Given the description of an element on the screen output the (x, y) to click on. 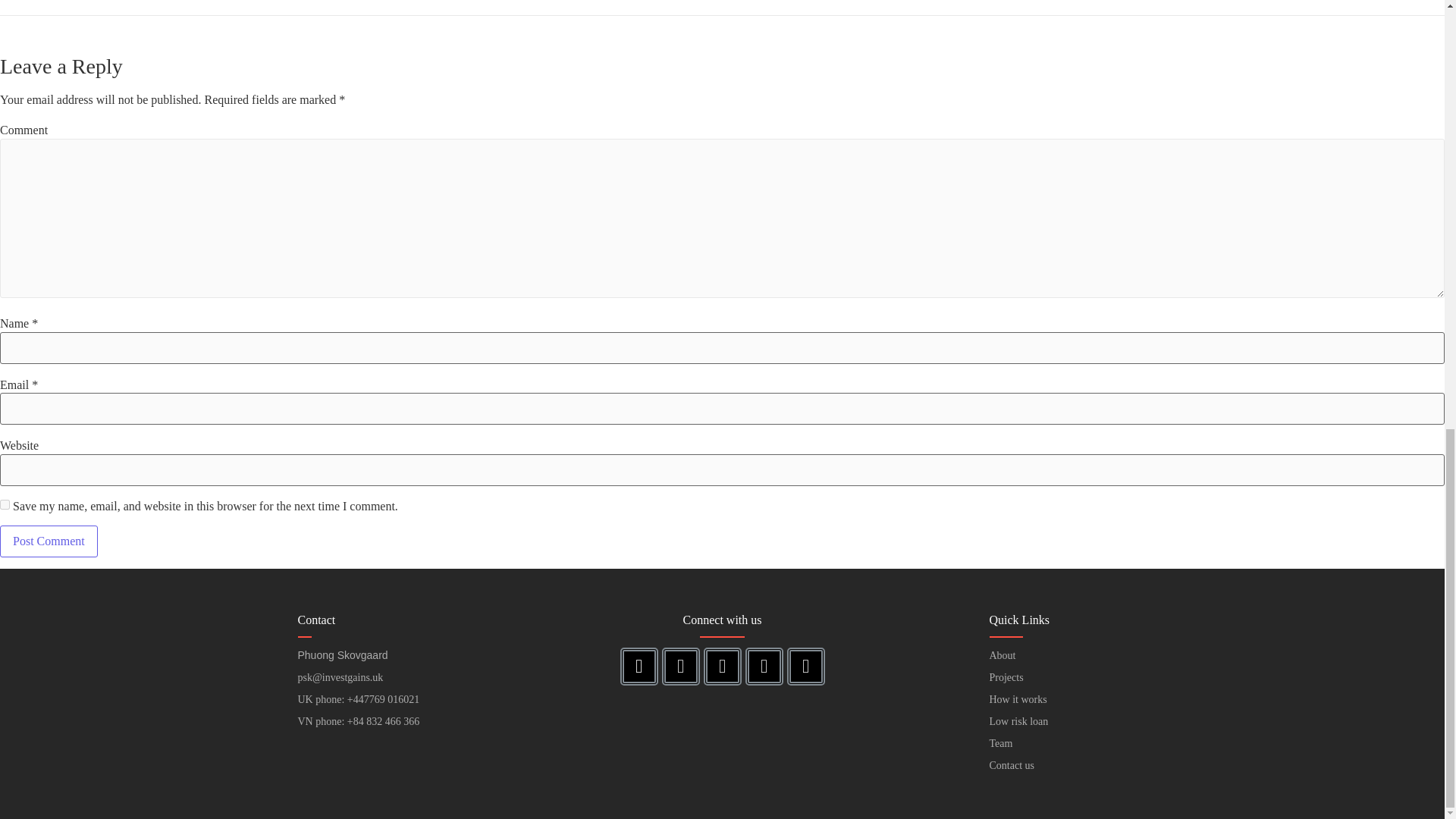
yes (5, 504)
Post Comment (48, 541)
Post Comment (48, 541)
